Given the description of an element on the screen output the (x, y) to click on. 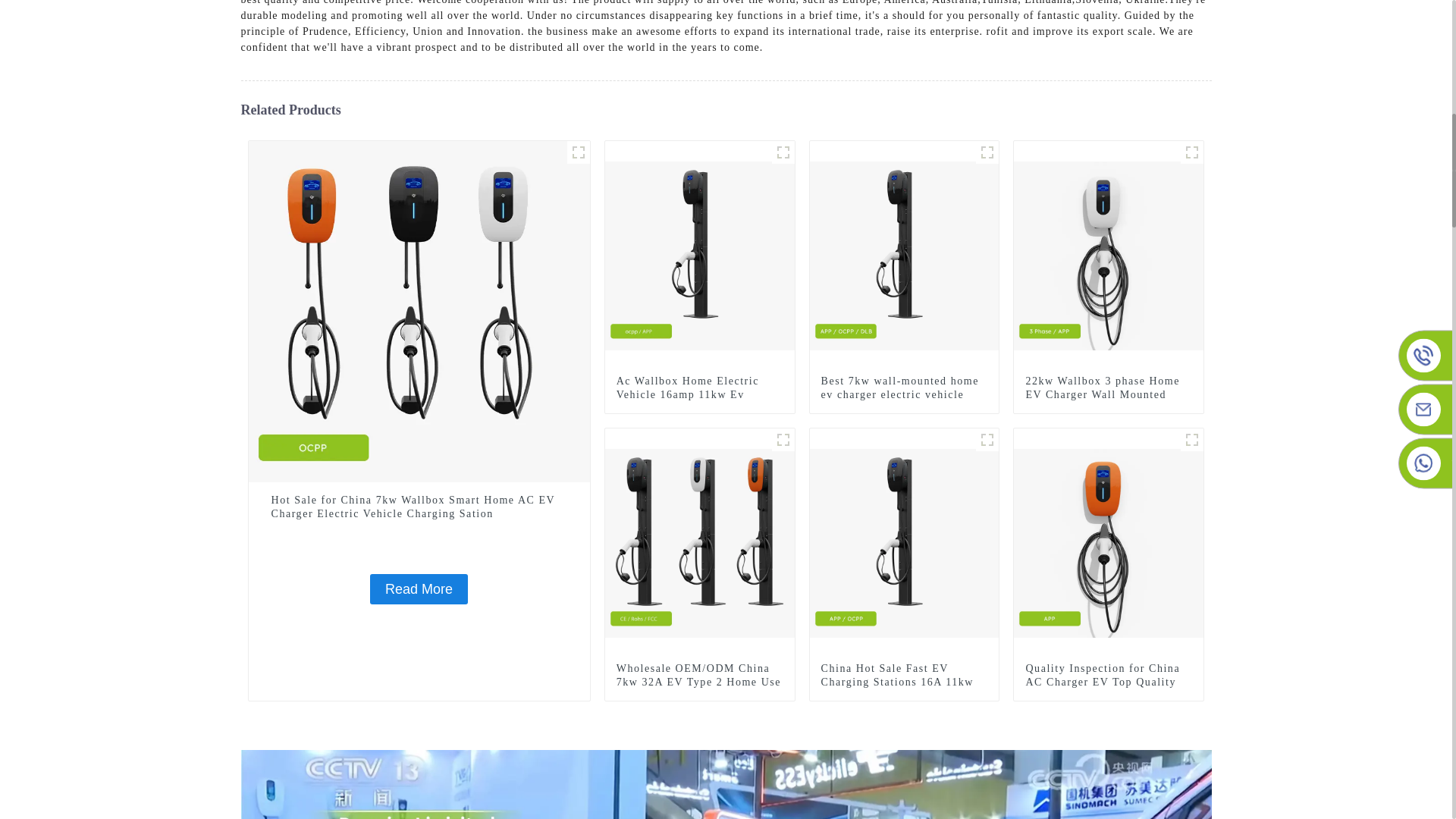
Read More (418, 589)
